Given the description of an element on the screen output the (x, y) to click on. 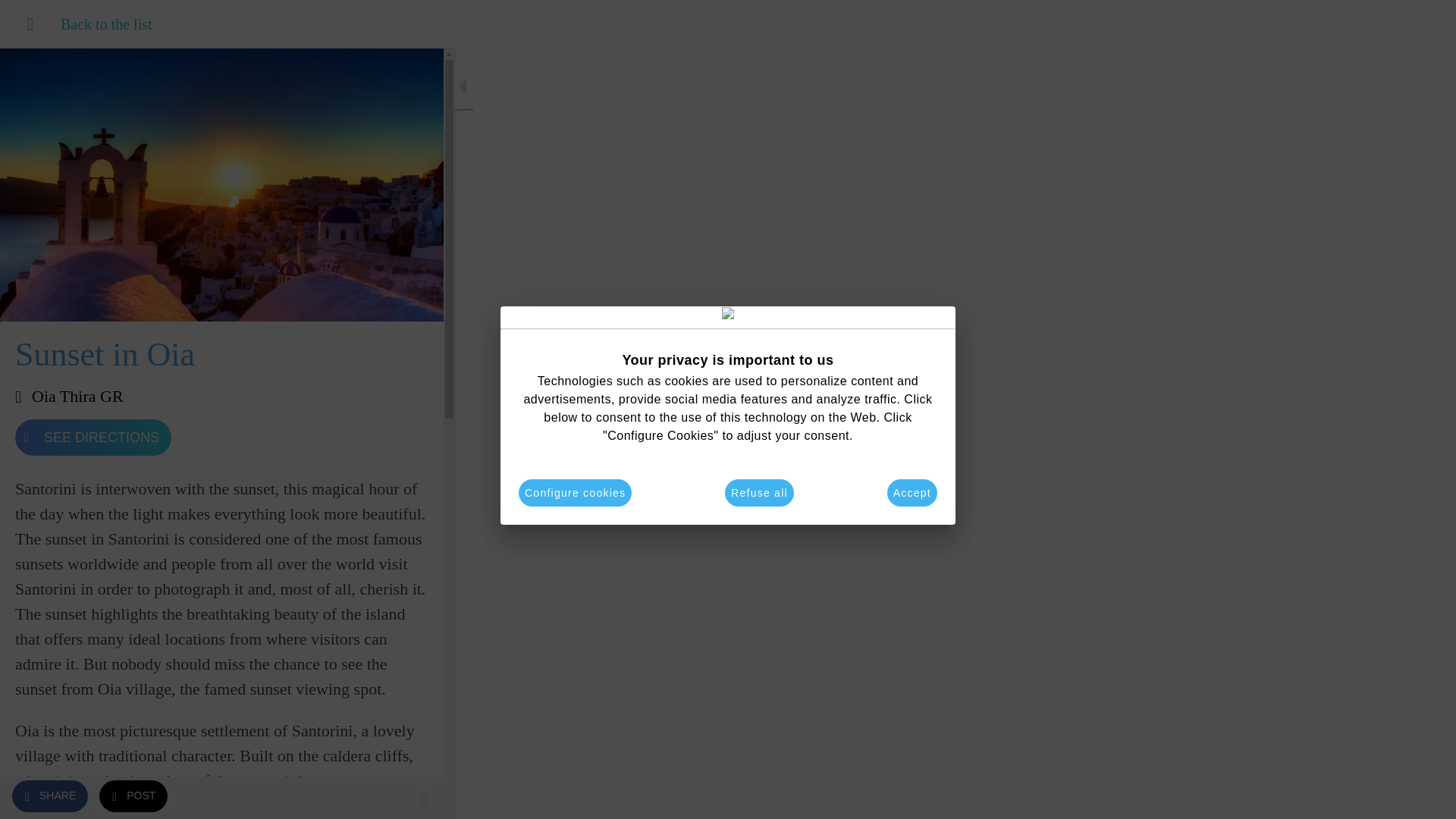
POST (133, 795)
Accept (911, 492)
Refuse all (759, 492)
SEE DIRECTIONS (92, 437)
Configure cookies (574, 492)
SHARE (49, 795)
